Given the description of an element on the screen output the (x, y) to click on. 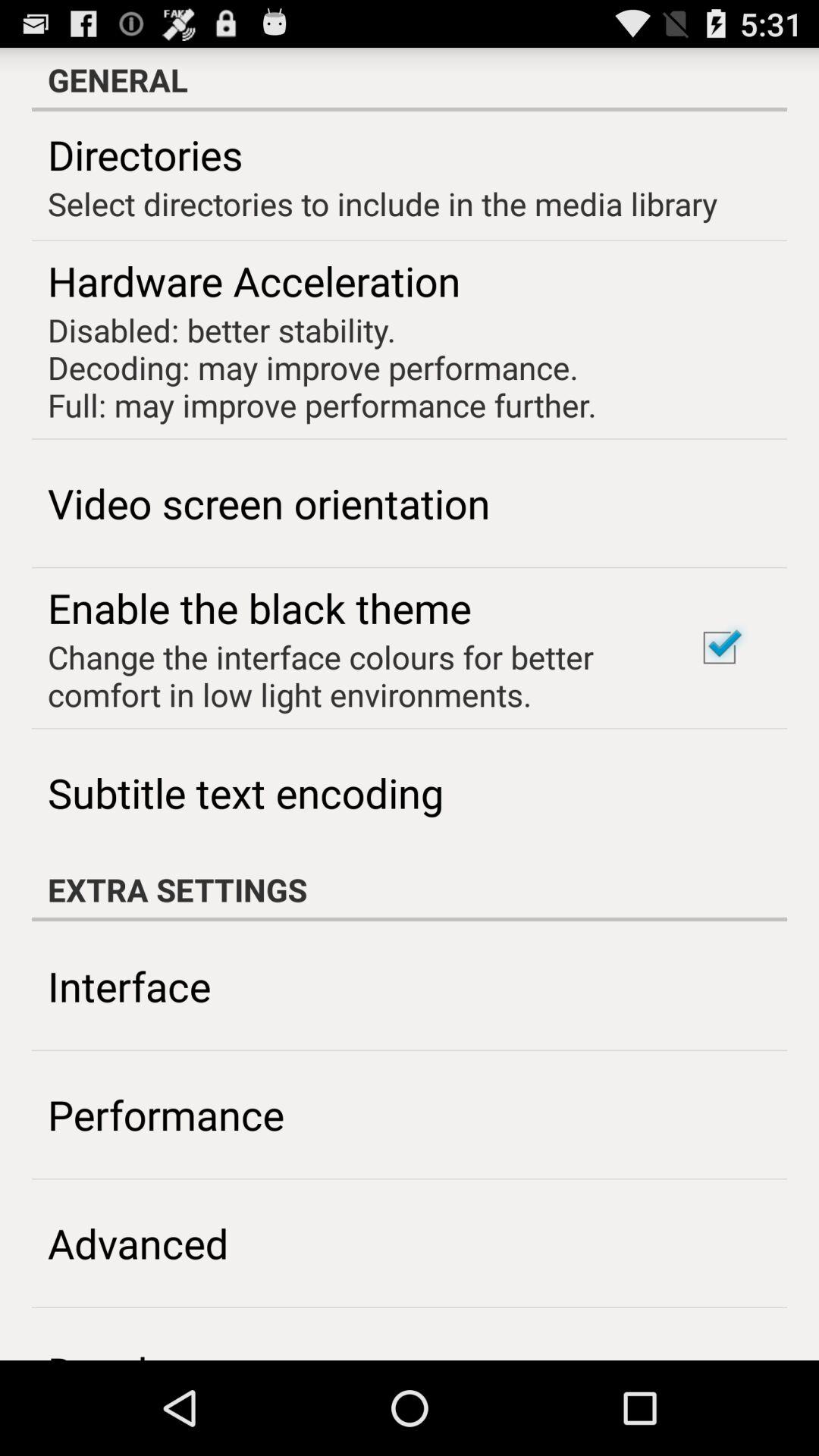
click the icon next to change the interface app (719, 647)
